Given the description of an element on the screen output the (x, y) to click on. 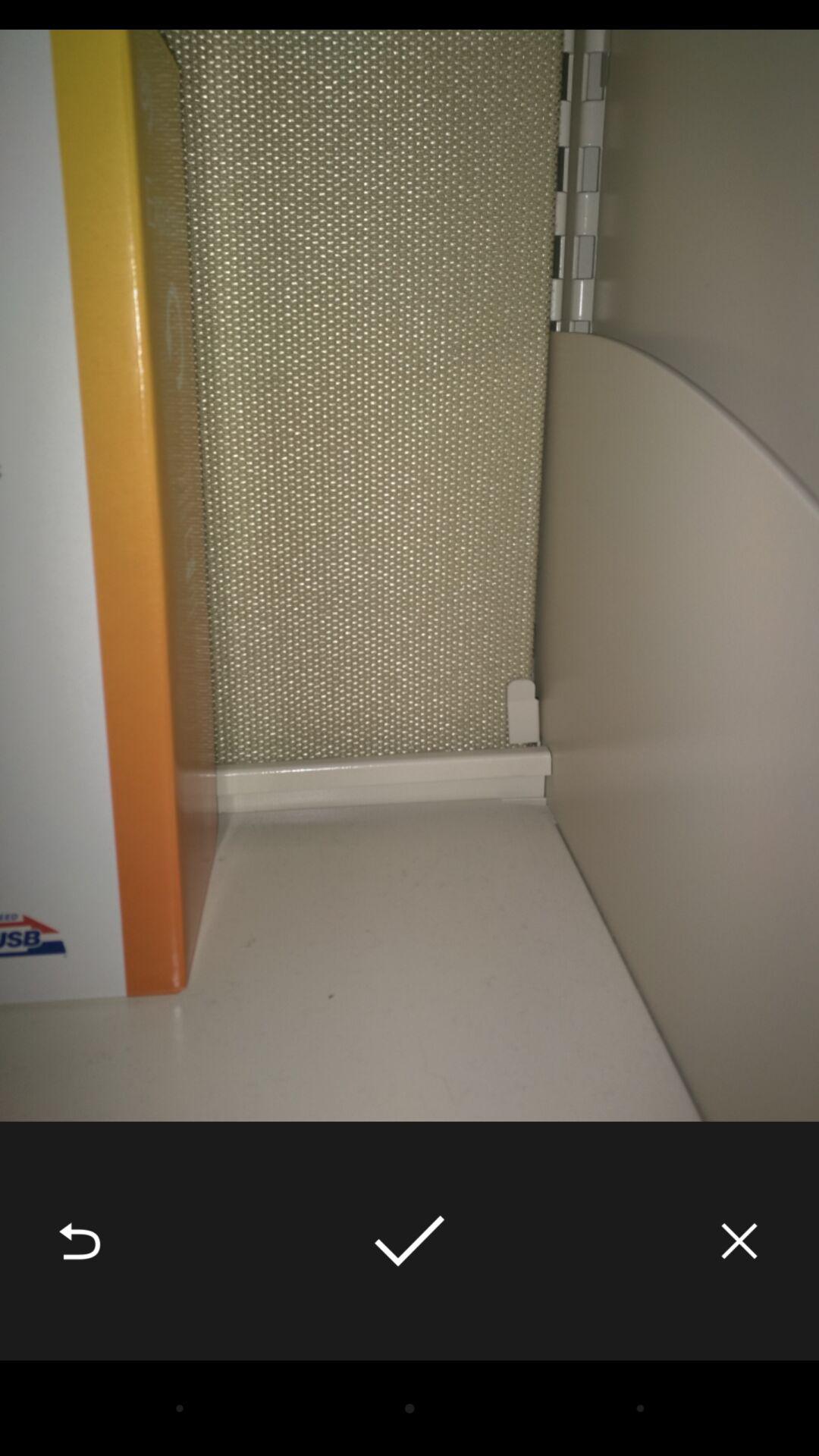
launch the icon at the bottom right corner (739, 1240)
